Given the description of an element on the screen output the (x, y) to click on. 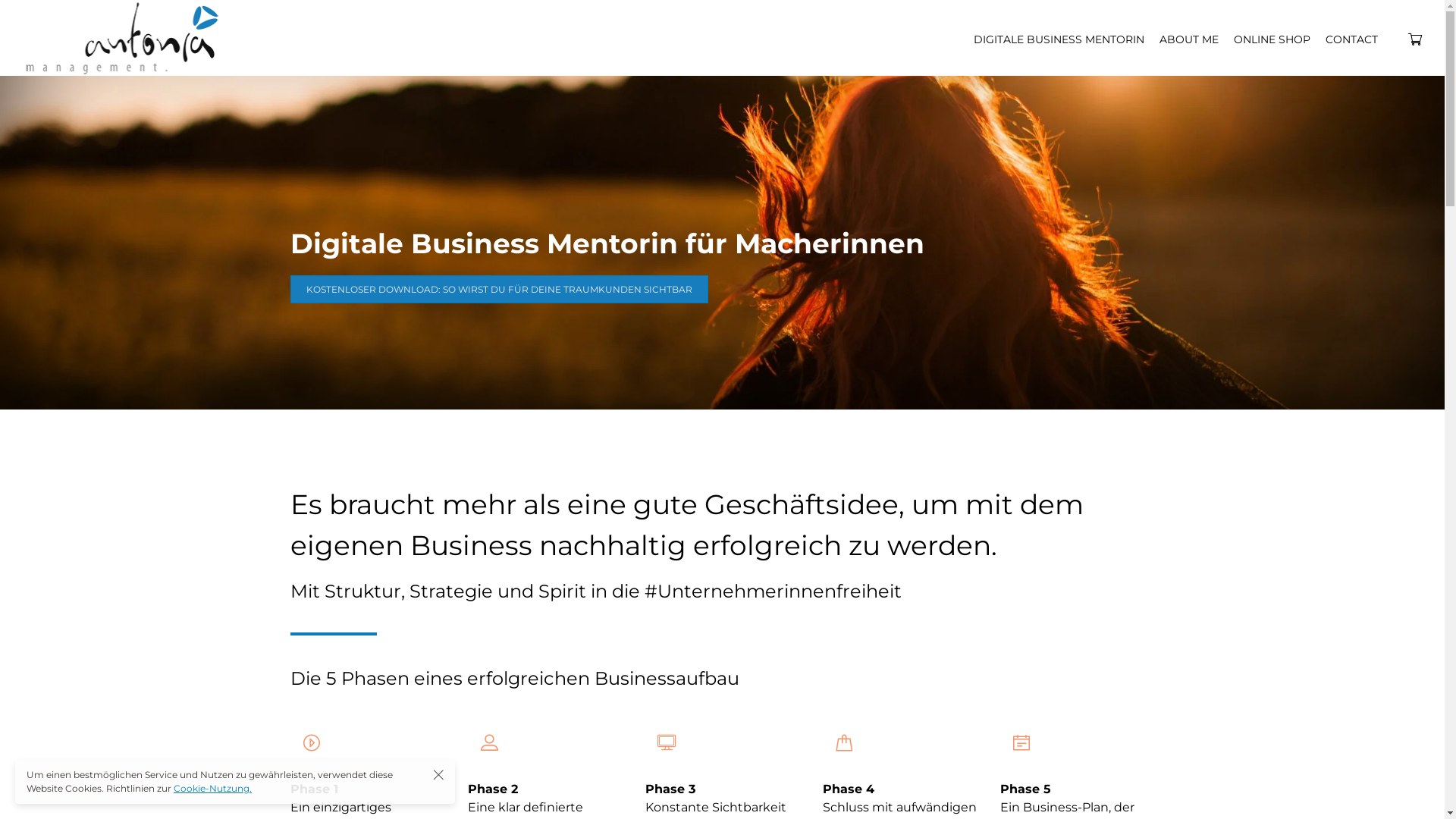
Cookie-Nutzung. Element type: text (212, 787)
CONTACT Element type: text (1351, 39)
DIGITALE BUSINESS MENTORIN Element type: text (1058, 39)
ONLINE SHOP Element type: text (1271, 39)
Sign in Element type: text (722, 462)
ABOUT ME Element type: text (1188, 39)
